Given the description of an element on the screen output the (x, y) to click on. 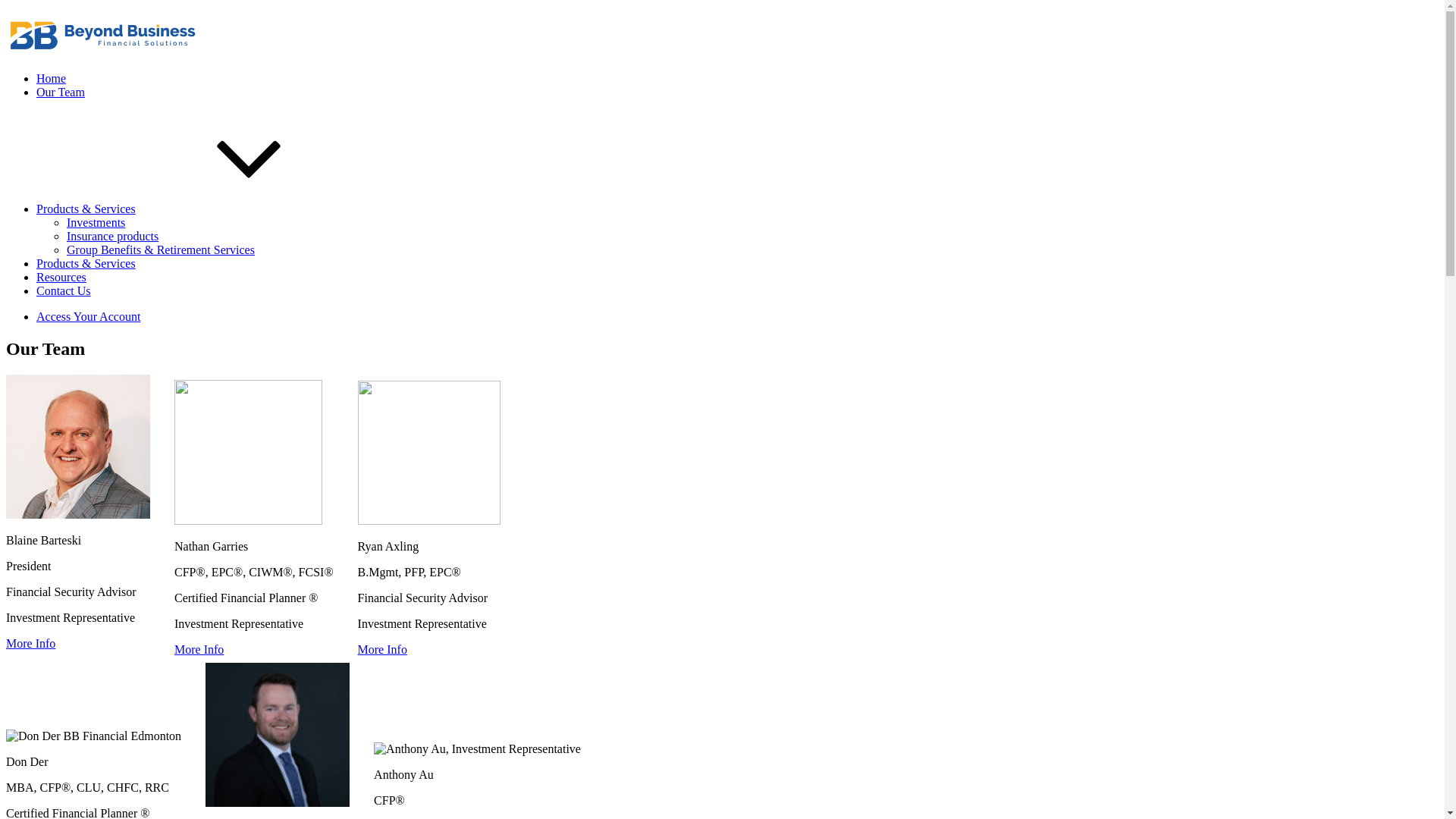
Products & Services Element type: text (85, 263)
Products & Services Element type: text (199, 208)
Access Your Account Element type: text (88, 316)
More Info Element type: text (198, 649)
More Info Element type: text (30, 643)
Contact Us Element type: text (63, 290)
Investments Element type: text (95, 222)
Group Benefits & Retirement Services Element type: text (160, 249)
Bbfinancial Element type: text (34, 78)
Our Team Element type: text (60, 91)
Resources Element type: text (61, 276)
Insurance products Element type: text (112, 235)
Home Element type: text (50, 78)
More Info Element type: text (382, 649)
